Given the description of an element on the screen output the (x, y) to click on. 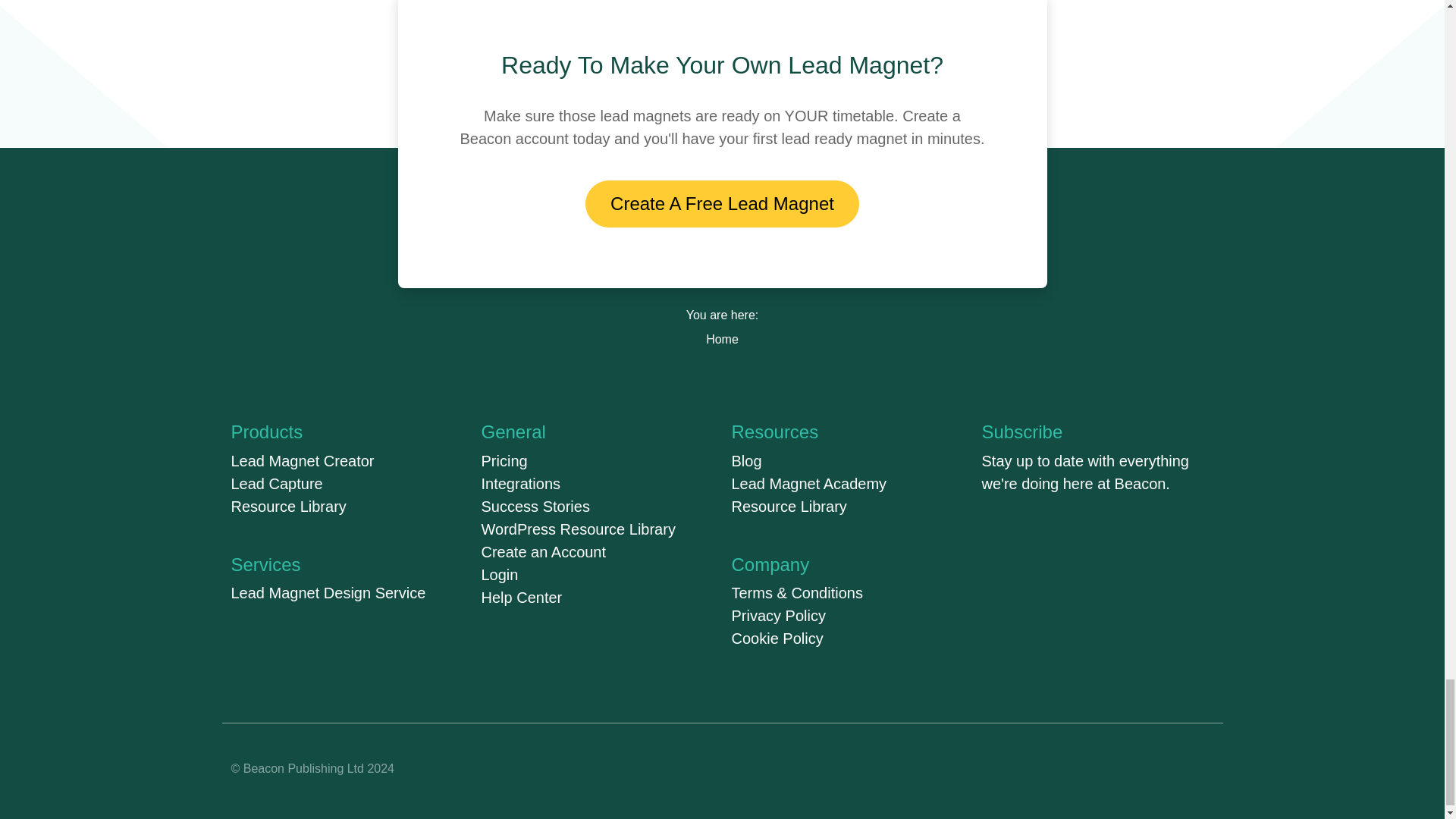
Lead Magnet Academy (808, 483)
Blog (745, 460)
Lead Capture (275, 483)
Resource Library (288, 506)
Lead Magnet Design Service (327, 592)
Create A Free Lead Magnet (722, 203)
Login (499, 574)
Help Center (521, 597)
Integrations (520, 483)
Lead Magnet Creator (302, 460)
